Given the description of an element on the screen output the (x, y) to click on. 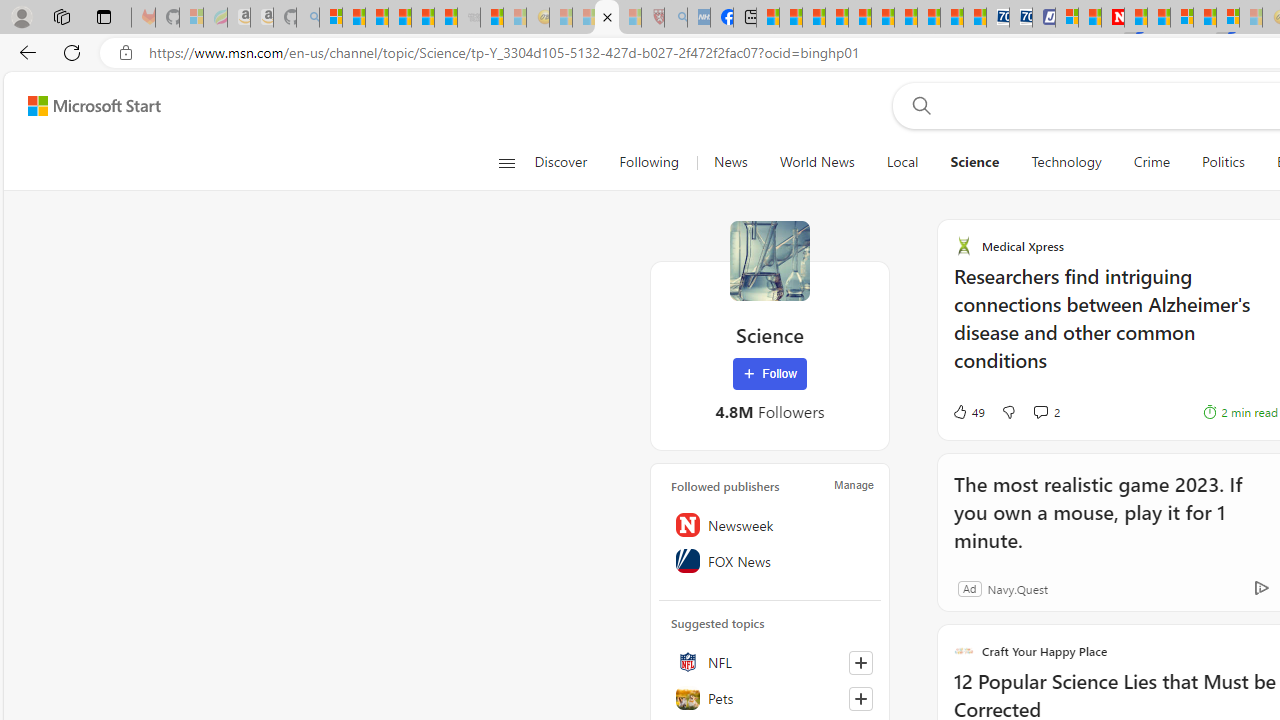
Combat Siege - Sleeping (468, 17)
